Given the description of an element on the screen output the (x, y) to click on. 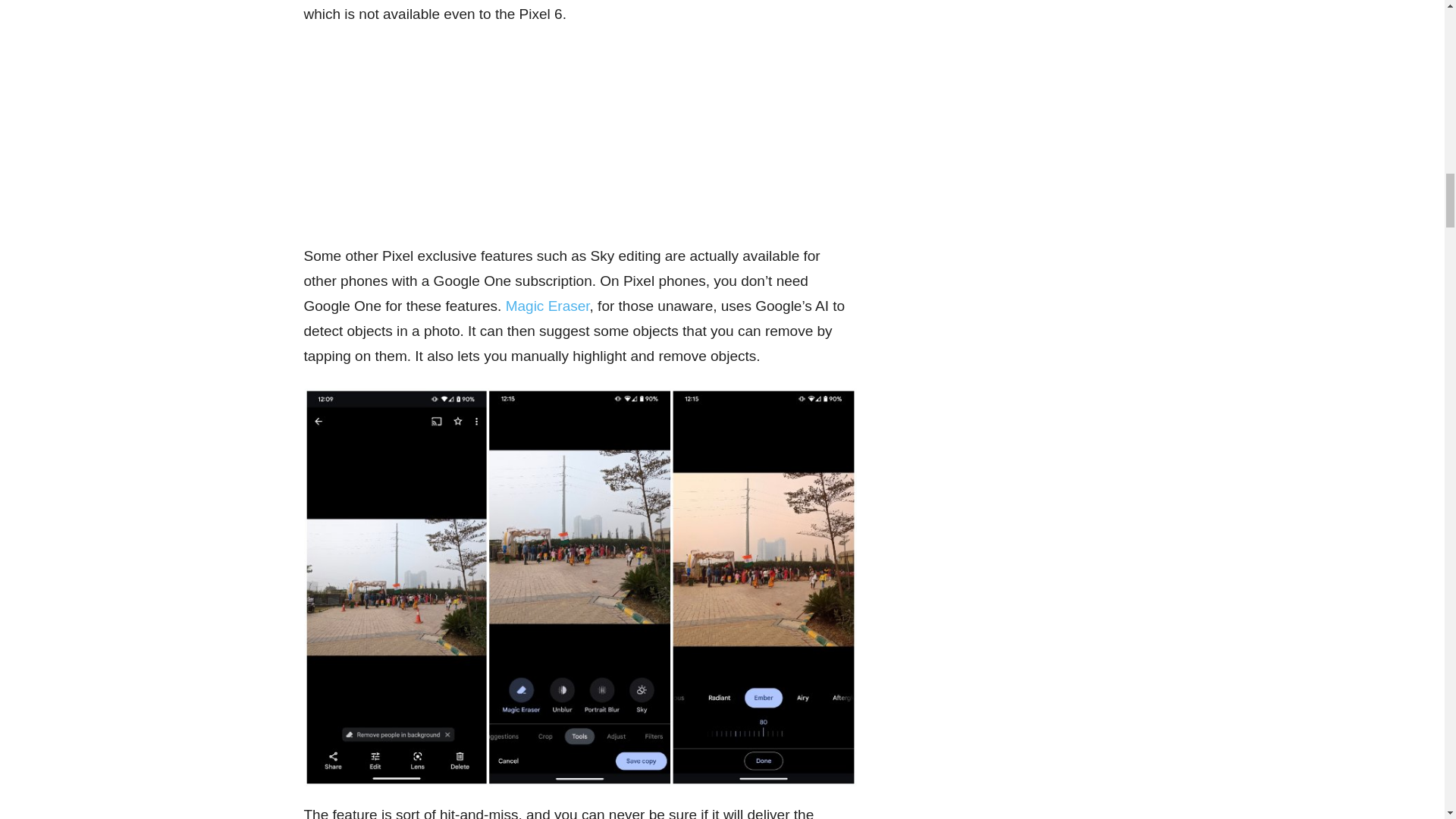
Magic Eraser (547, 305)
